Given the description of an element on the screen output the (x, y) to click on. 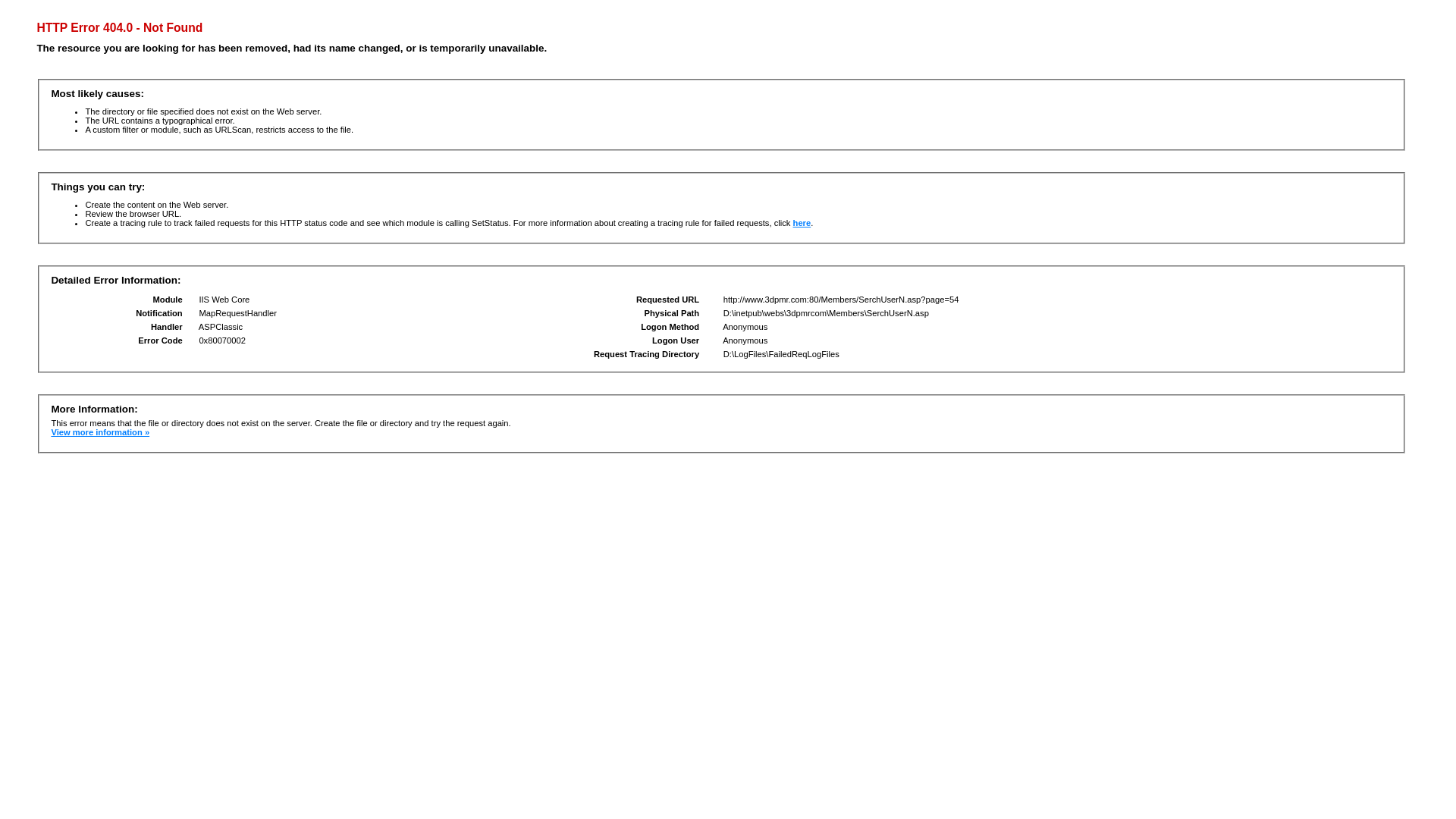
here Element type: text (802, 222)
